Given the description of an element on the screen output the (x, y) to click on. 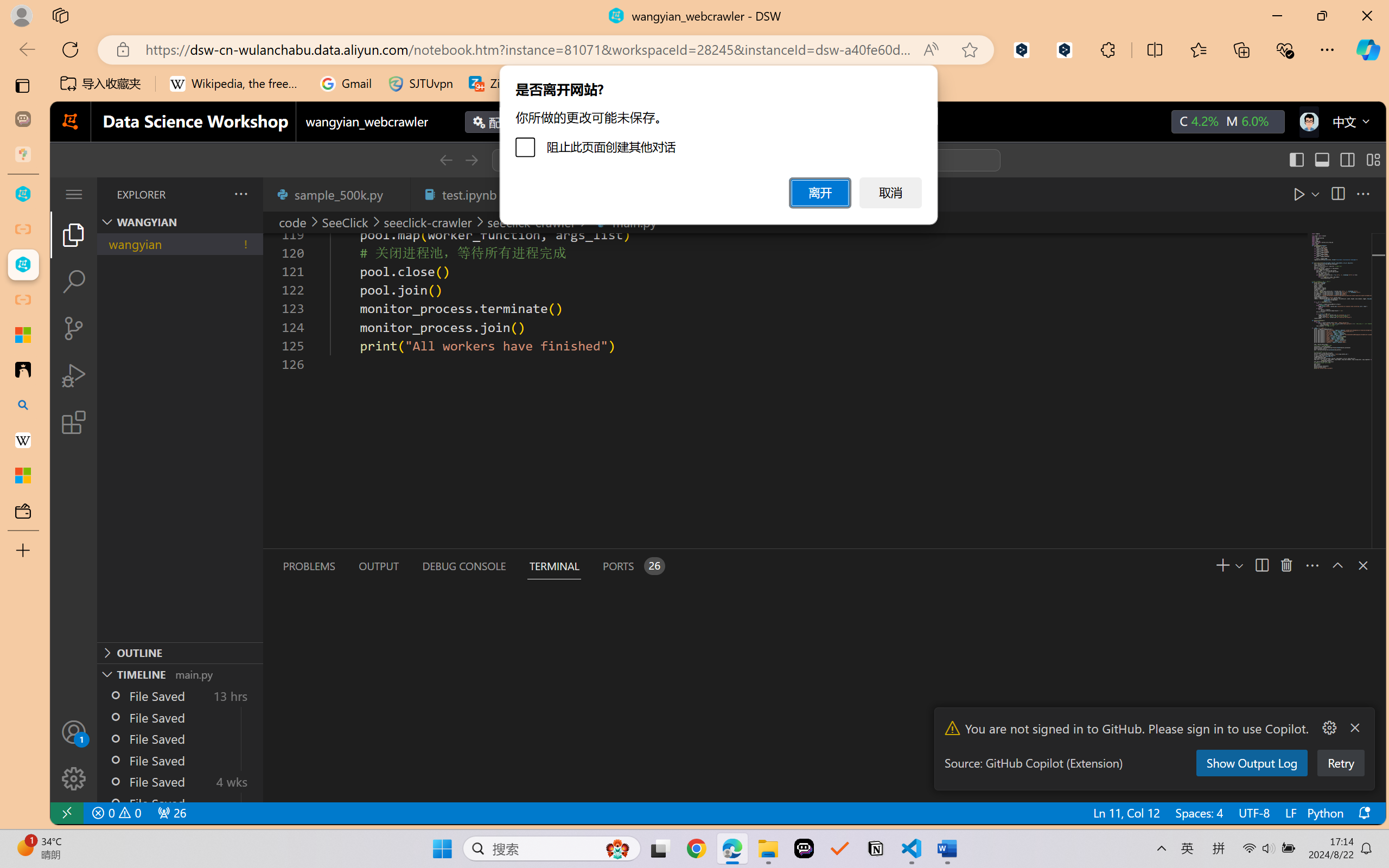
wangyian_webcrawler - DSW (22, 264)
Debug Console (Ctrl+Shift+Y) (463, 565)
Python (1323, 812)
Adjust indents and spacing - Microsoft Support (22, 334)
Timeline Section (179, 673)
Wikipedia, the free encyclopedia (236, 83)
icon (1308, 119)
Gmail (345, 83)
Tab actions (395, 194)
